Given the description of an element on the screen output the (x, y) to click on. 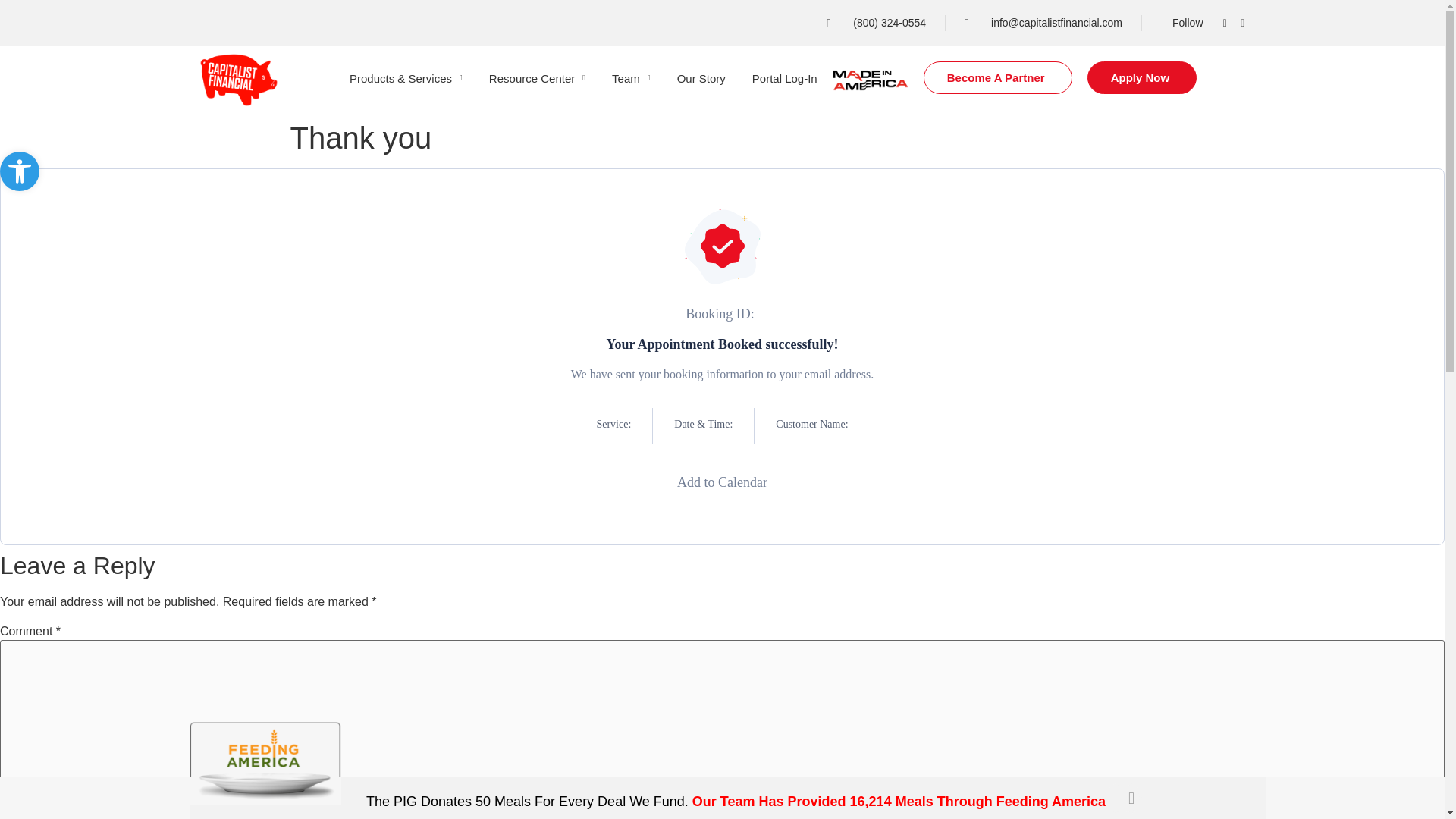
Accessibility Tools (19, 170)
Resource Center (537, 78)
Accessibility Tools (19, 170)
